Given the description of an element on the screen output the (x, y) to click on. 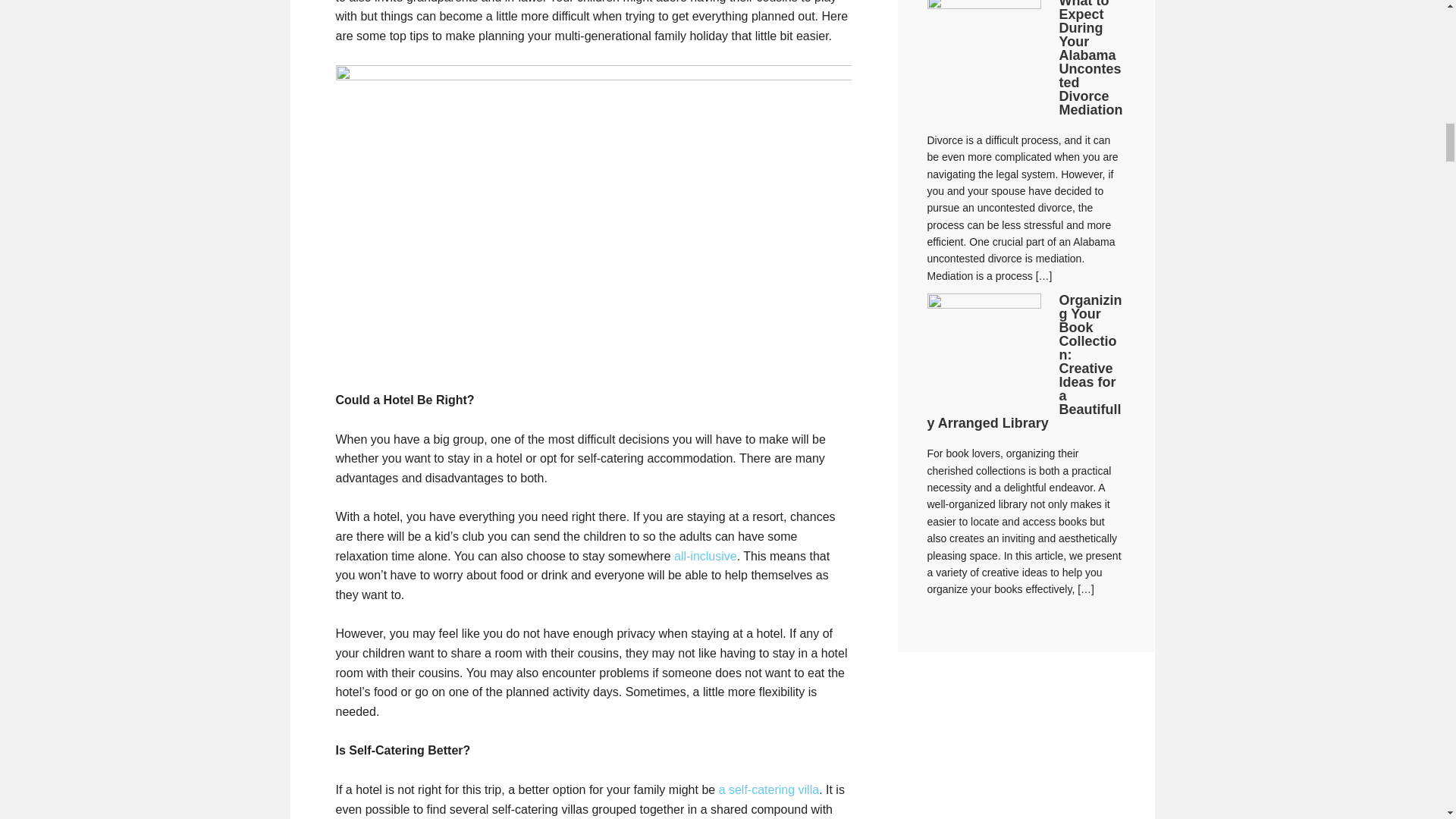
a self-catering villa (769, 789)
all-inclusive (705, 555)
